Given the description of an element on the screen output the (x, y) to click on. 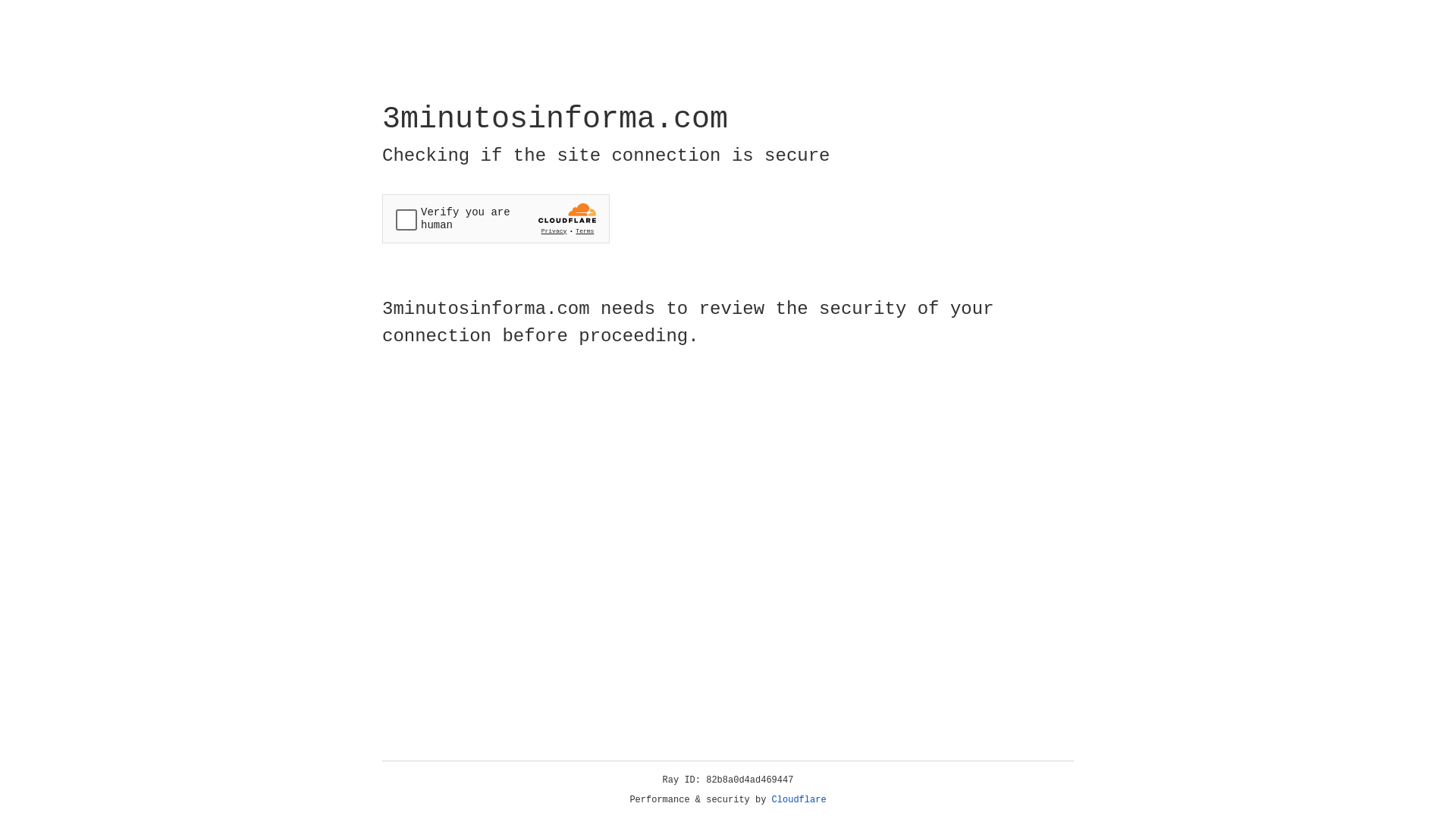
Cloudflare Element type: text (798, 799)
Widget containing a Cloudflare security challenge Element type: hover (495, 218)
